Given the description of an element on the screen output the (x, y) to click on. 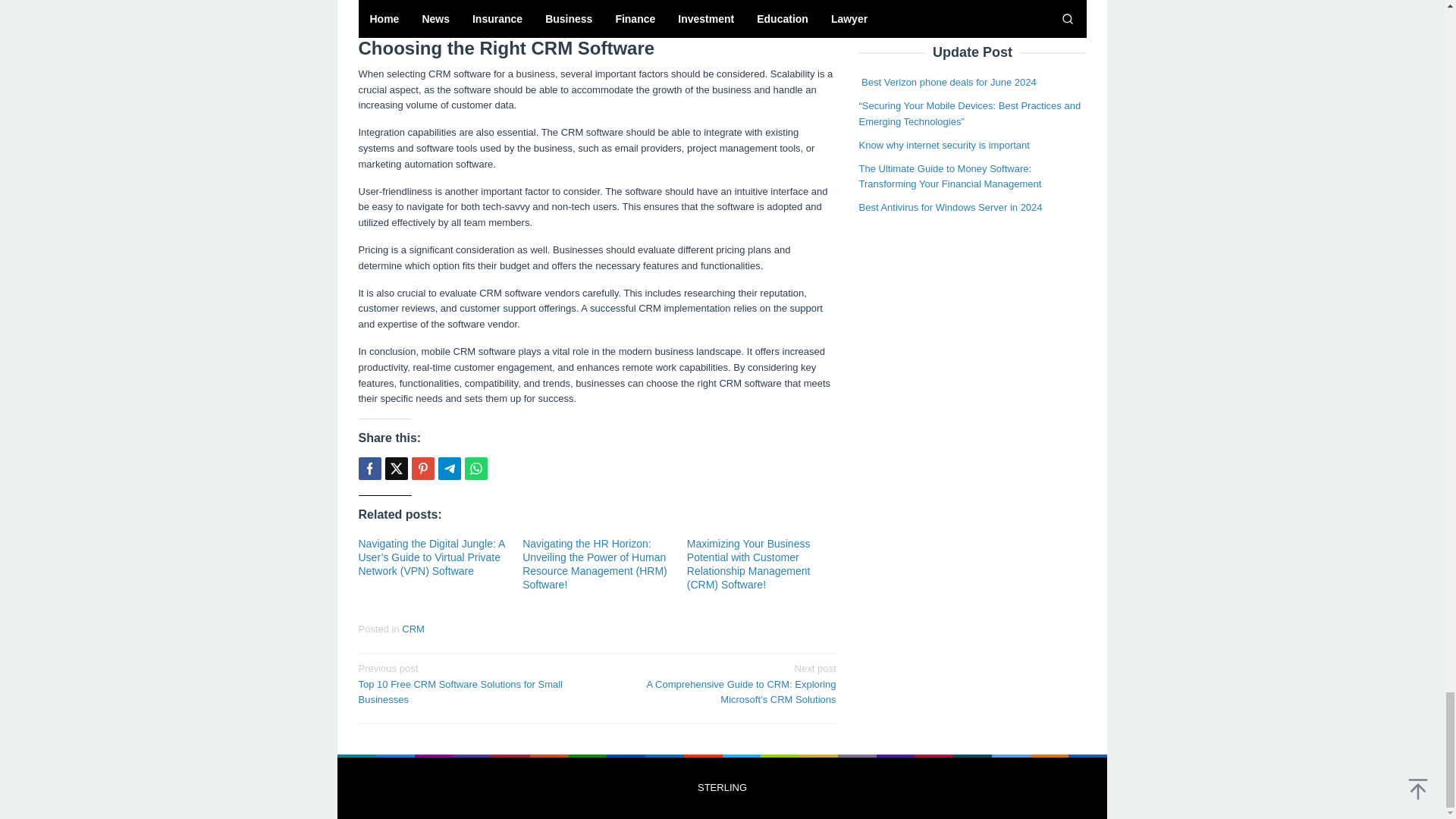
Tweet this (396, 468)
CRM (413, 628)
Pin this (421, 468)
Telegram Share (449, 468)
Share this (369, 468)
Whatsapp (475, 468)
